Given the description of an element on the screen output the (x, y) to click on. 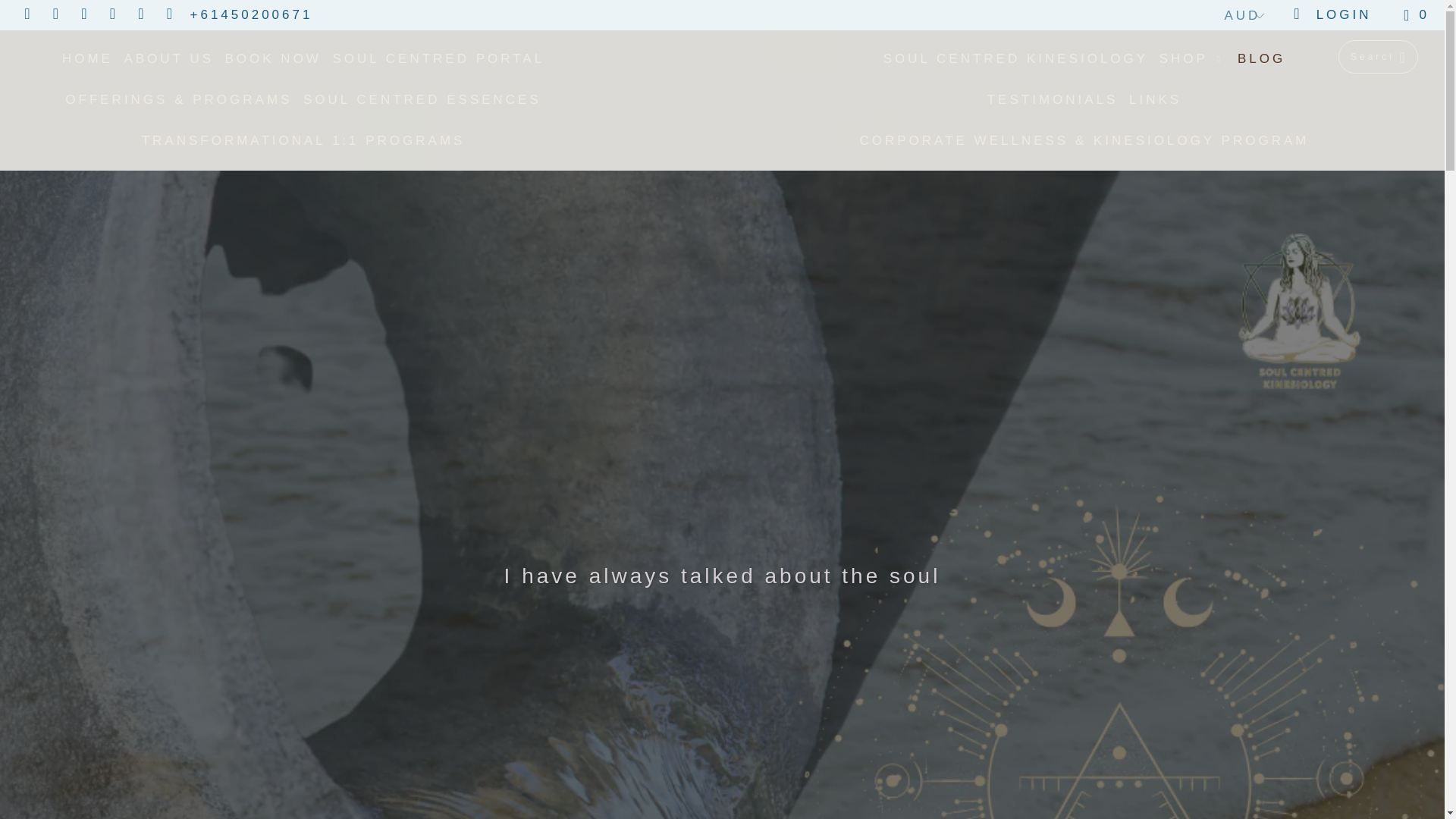
LOGIN (1331, 15)
Soul Centred Kinesiology on Vimeo (84, 14)
ABOUT US (168, 59)
SOUL CENTRED PORTAL (437, 59)
Soul Centred Kinesiology on Pinterest (113, 14)
Soul Centred Kinesiology on Instagram (140, 14)
HOME (87, 59)
Soul Centred Kinesiology on YouTube (55, 14)
Soul Centred Kinesiology (729, 39)
Soul Centred Kinesiology on Facebook (27, 14)
